Given the description of an element on the screen output the (x, y) to click on. 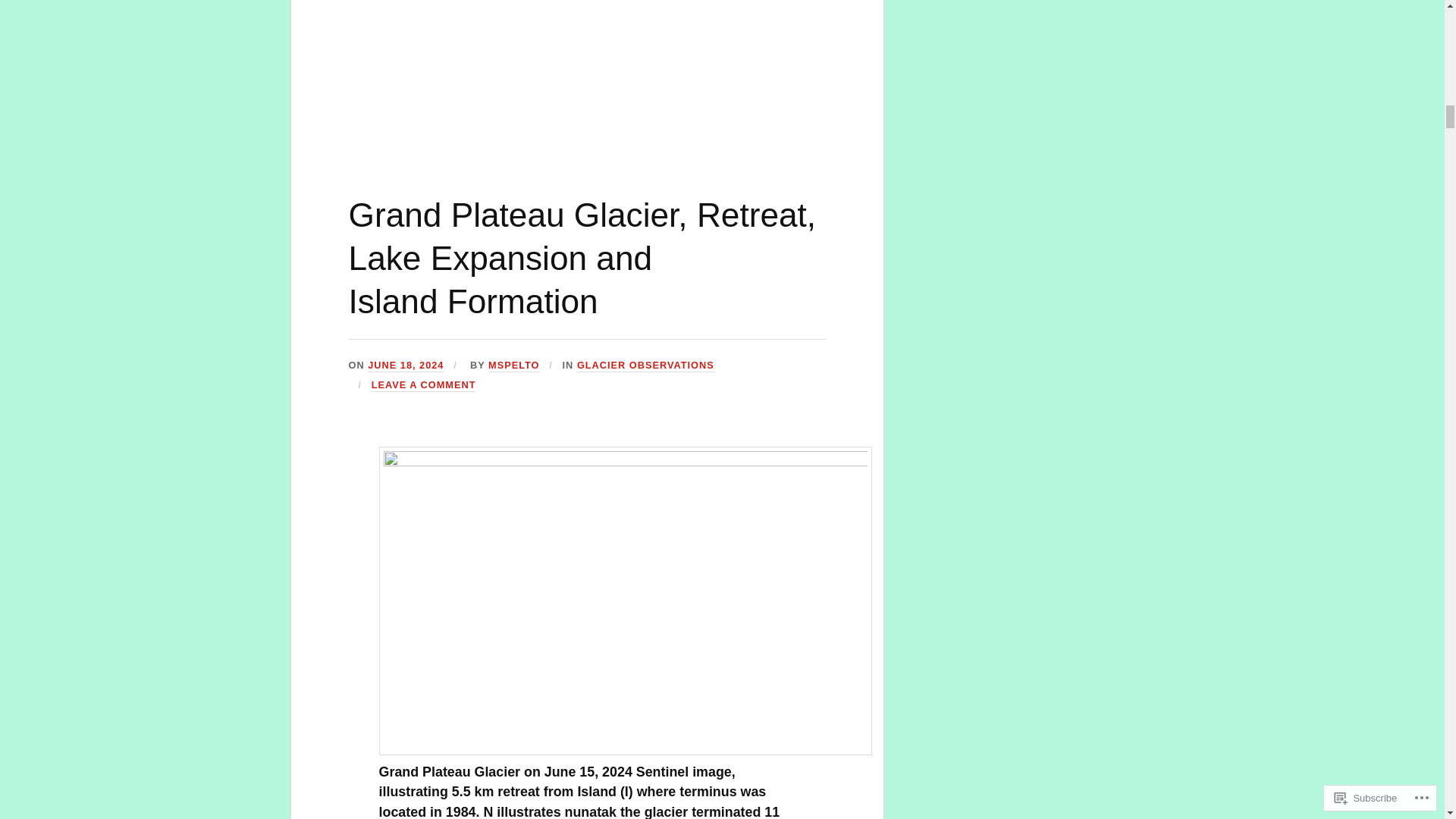
MSPELTO (512, 365)
JUNE 18, 2024 (406, 365)
